Given the description of an element on the screen output the (x, y) to click on. 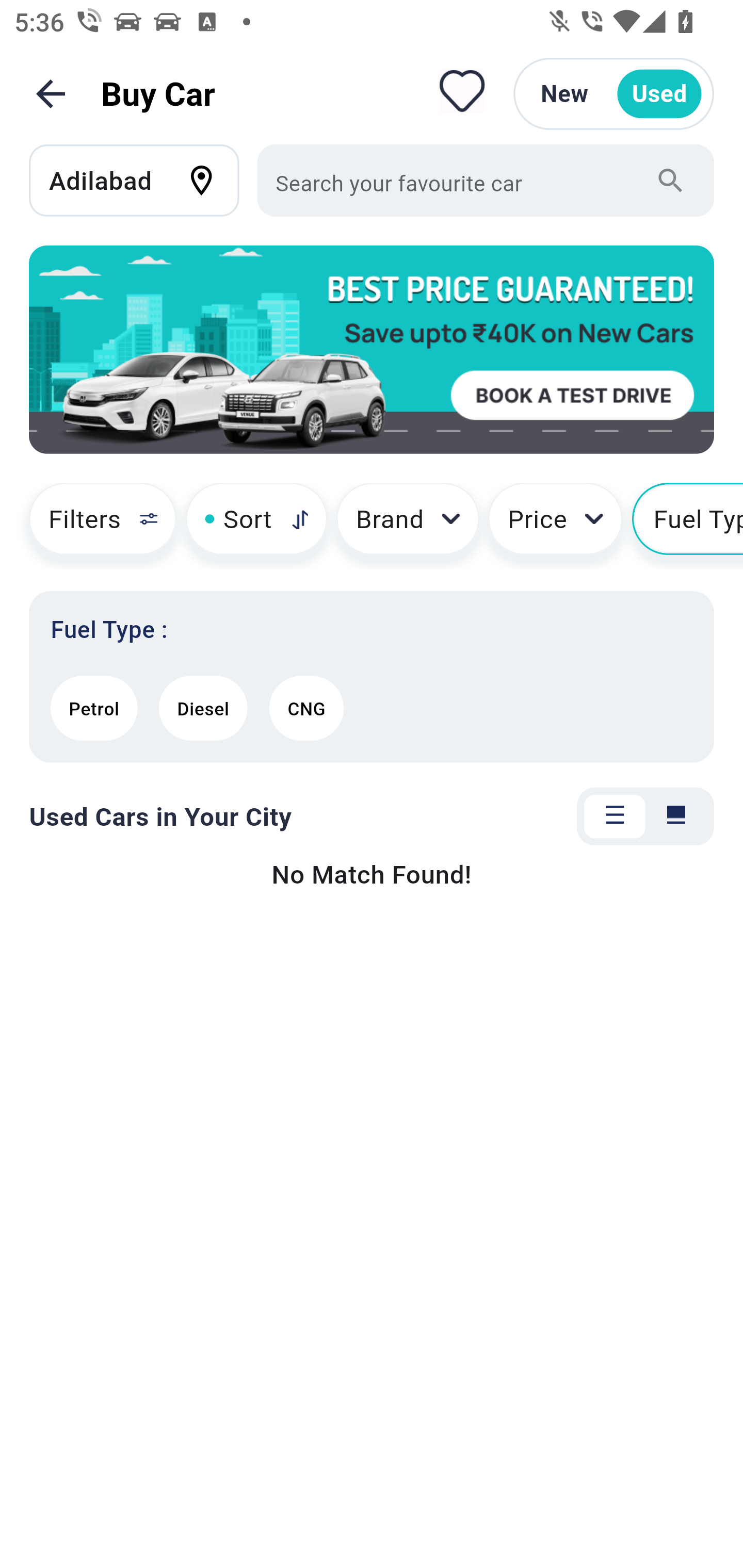
Back (50, 93)
New (564, 93)
Used (659, 93)
Adilabad (142, 180)
Filters (93, 525)
Sort (255, 525)
Brand (407, 525)
Price (555, 525)
Fuel Type (687, 525)
Petrol (93, 707)
Diesel (203, 707)
CNG (305, 707)
Tab 1 of 2 (614, 816)
Tab 2 of 2 (675, 816)
